Given the description of an element on the screen output the (x, y) to click on. 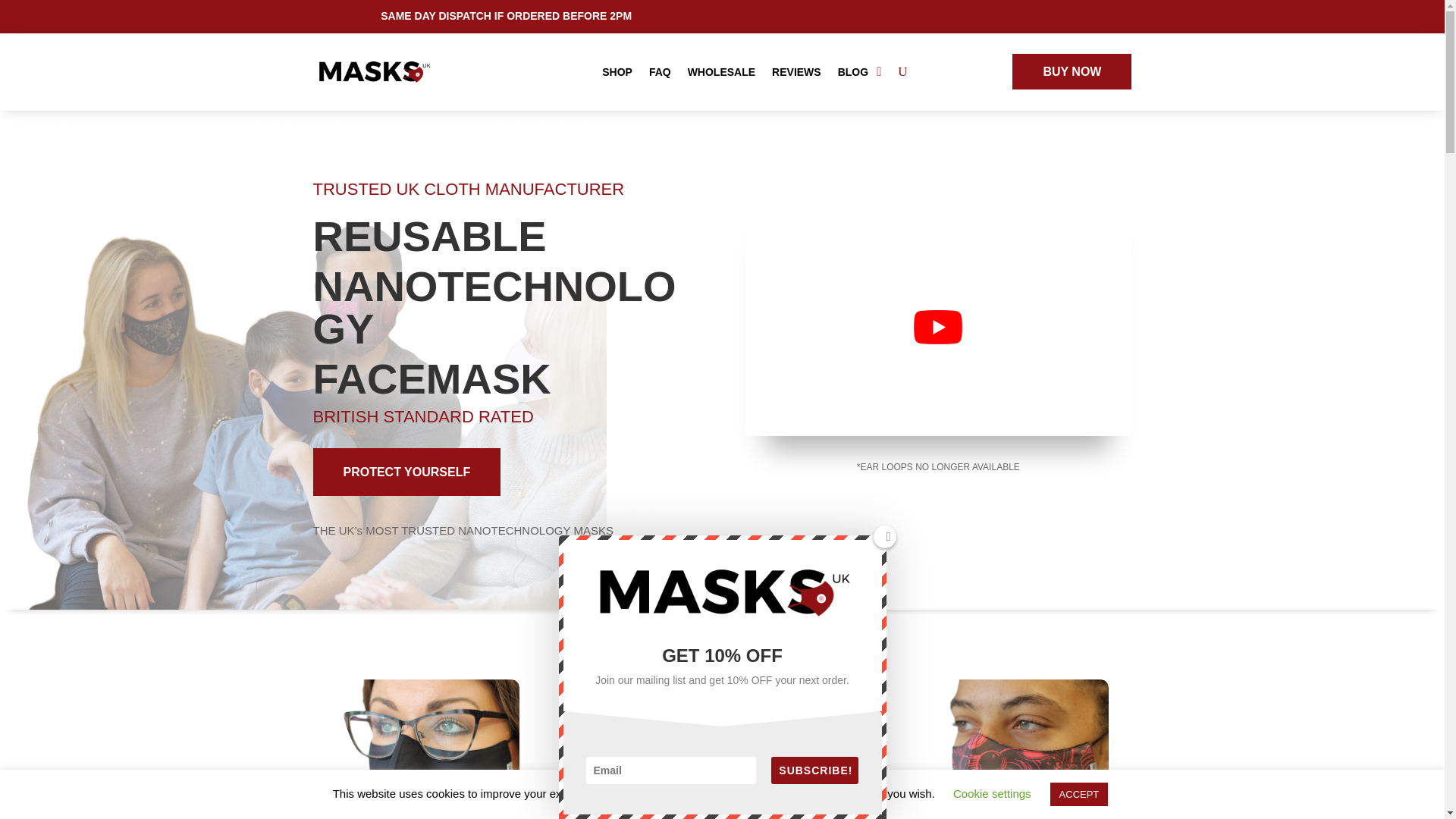
PROTECT YOURSELF (406, 471)
WHOLESALE (721, 71)
BUY NOW (1071, 71)
